Given the description of an element on the screen output the (x, y) to click on. 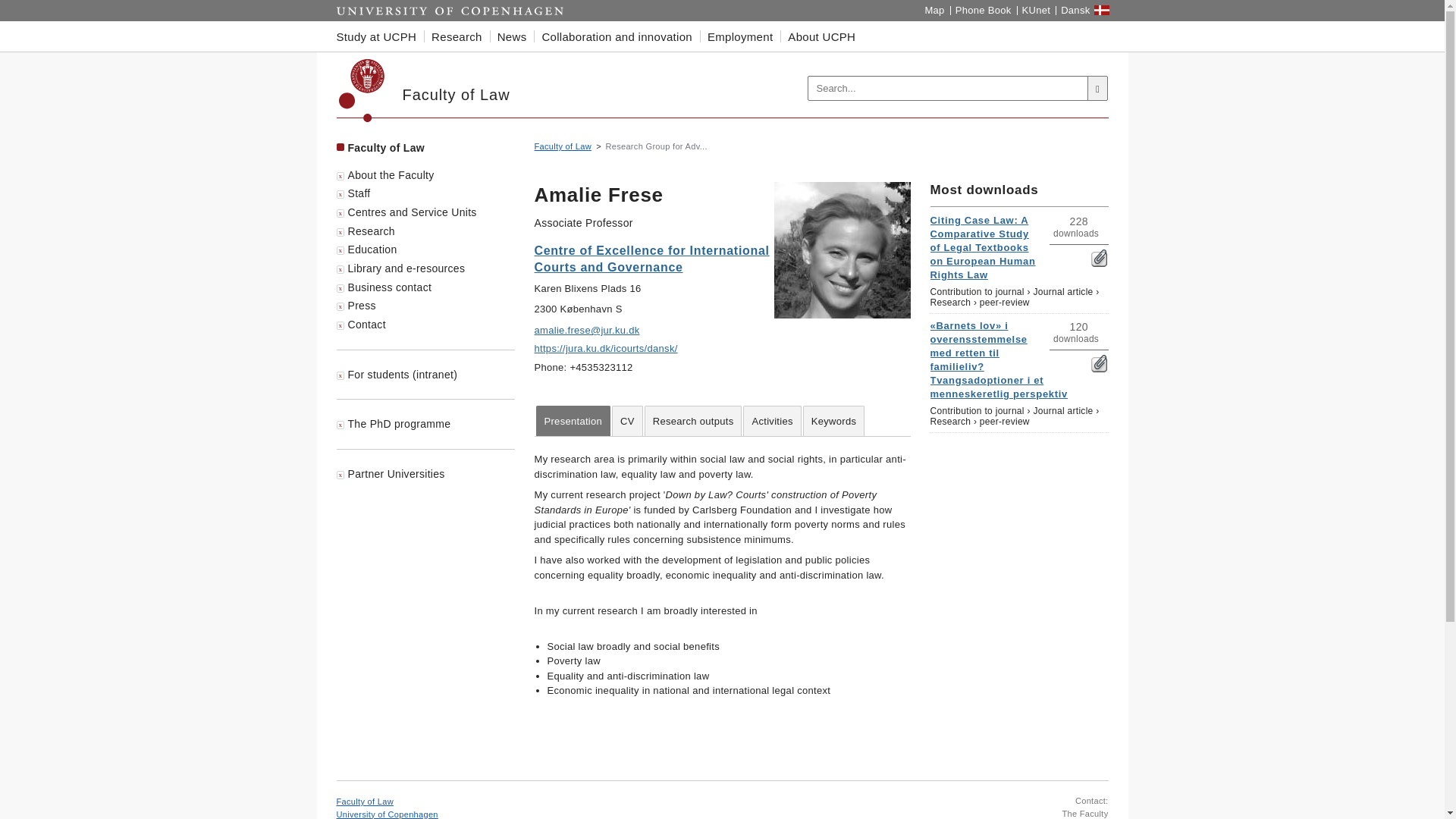
1 (1098, 257)
1 (1098, 363)
Start (450, 10)
